Given the description of an element on the screen output the (x, y) to click on. 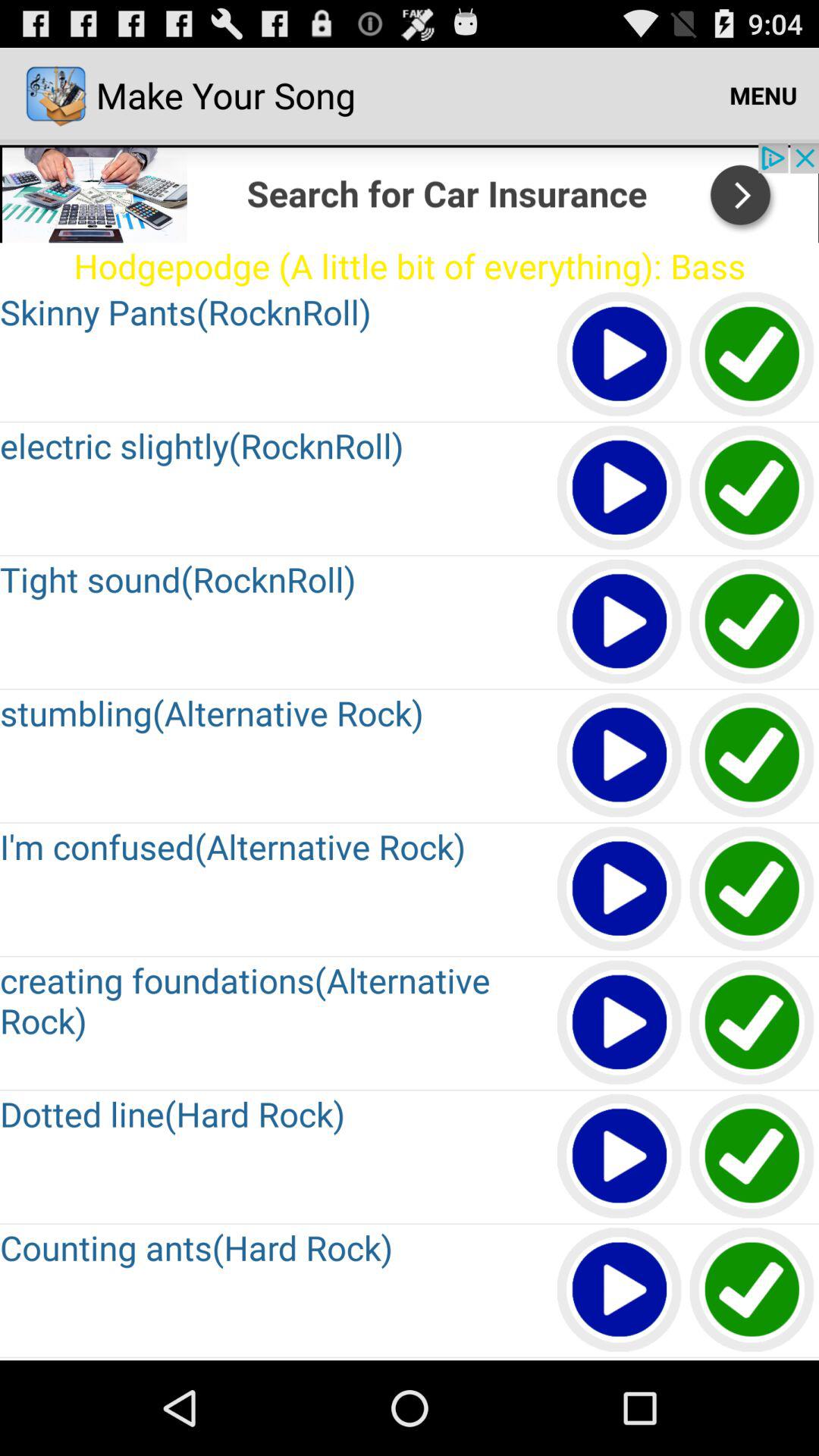
play a video (619, 1290)
